Given the description of an element on the screen output the (x, y) to click on. 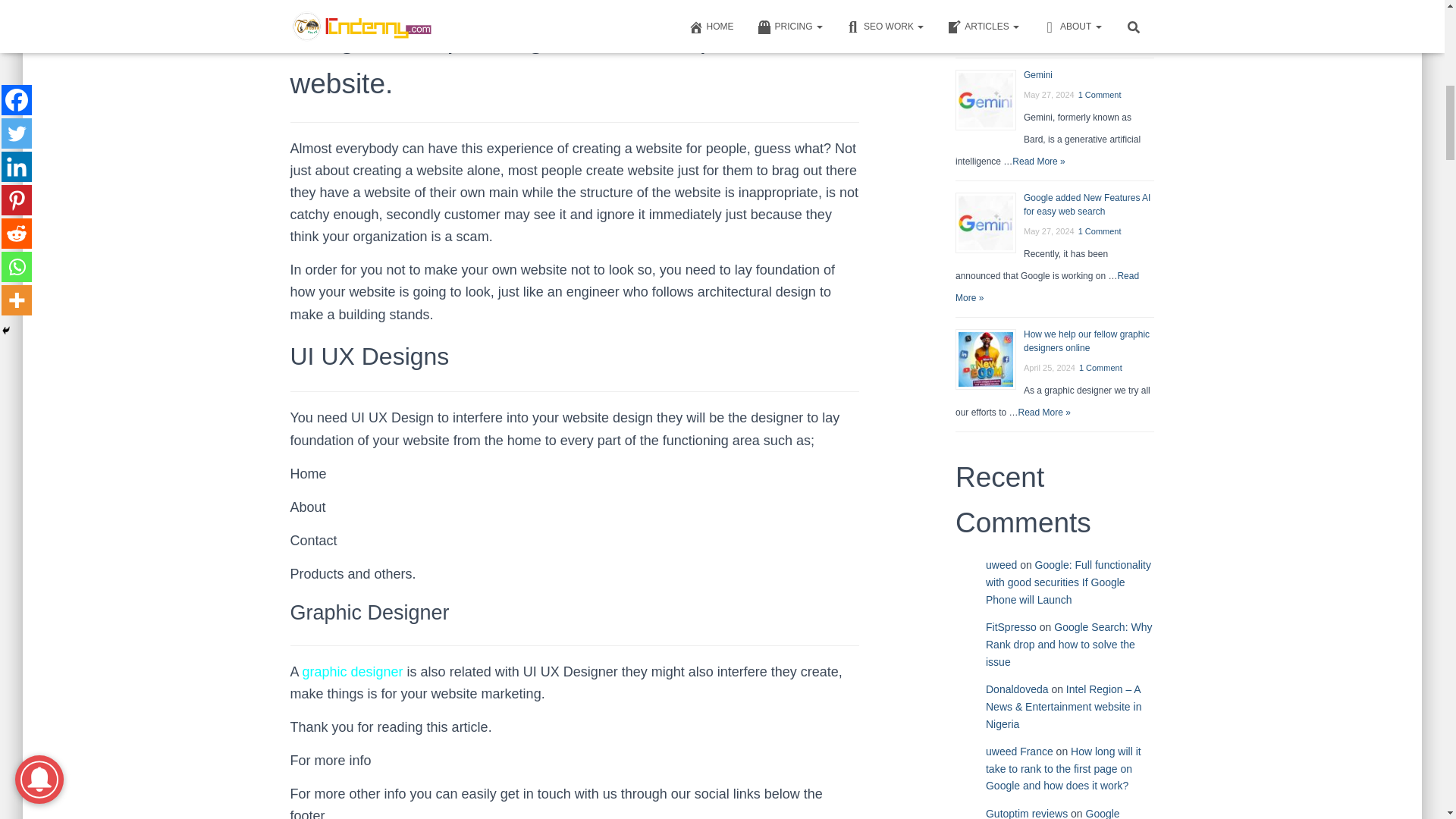
graphic designer (352, 671)
